Given the description of an element on the screen output the (x, y) to click on. 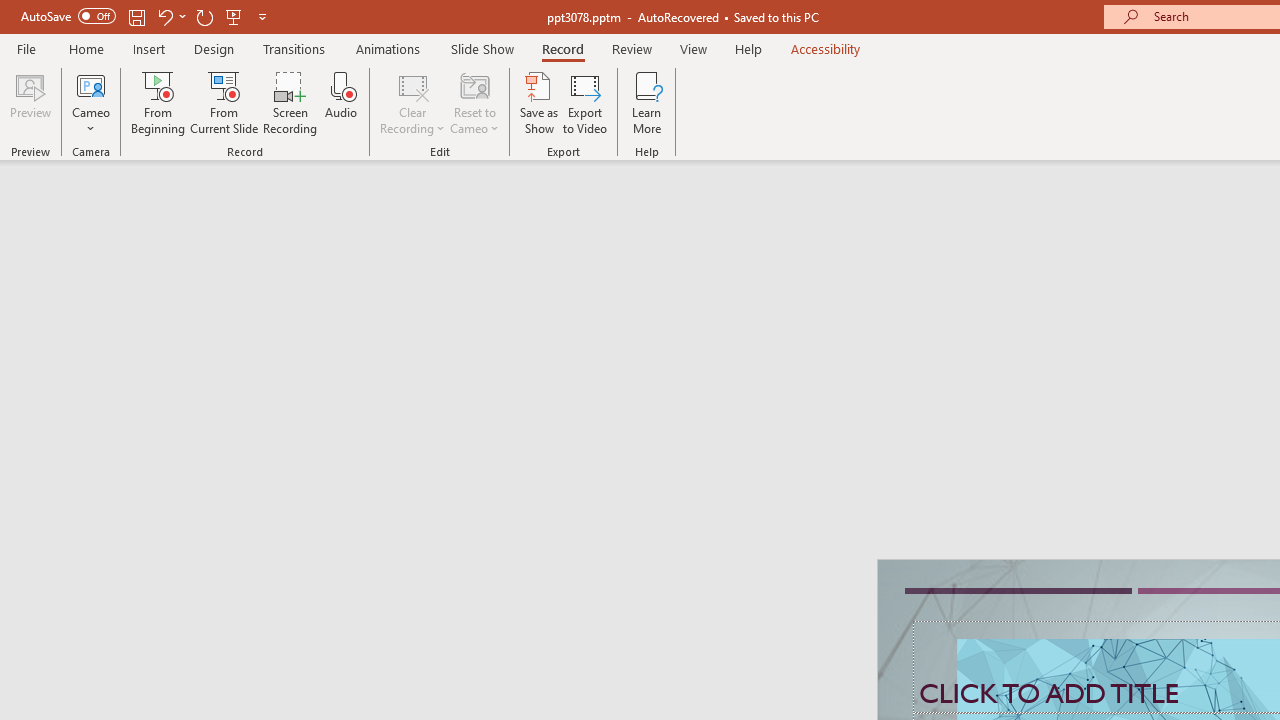
Wikipedia, the free encyclopedia (437, 138)
sample_500k.py (619, 322)
SJTUvpn (774, 138)
Edge (905, 82)
